Given the description of an element on the screen output the (x, y) to click on. 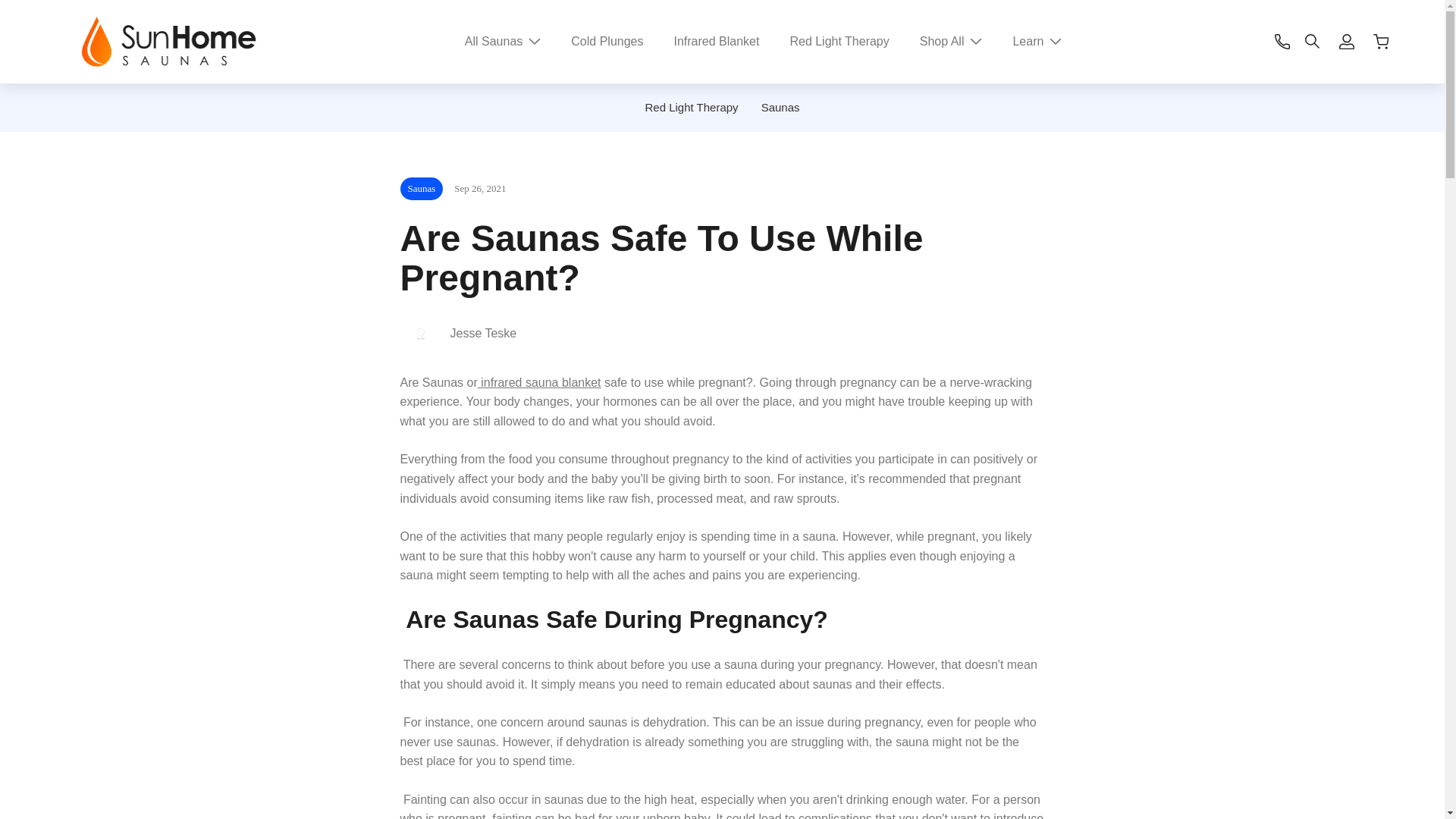
Infrared Blanket (716, 41)
infrared sauna blanket (539, 382)
Skip To Content (34, 97)
All Saunas (502, 41)
Red Light Therapy (839, 41)
Shop All (950, 41)
Cold Plunges (607, 41)
